Given the description of an element on the screen output the (x, y) to click on. 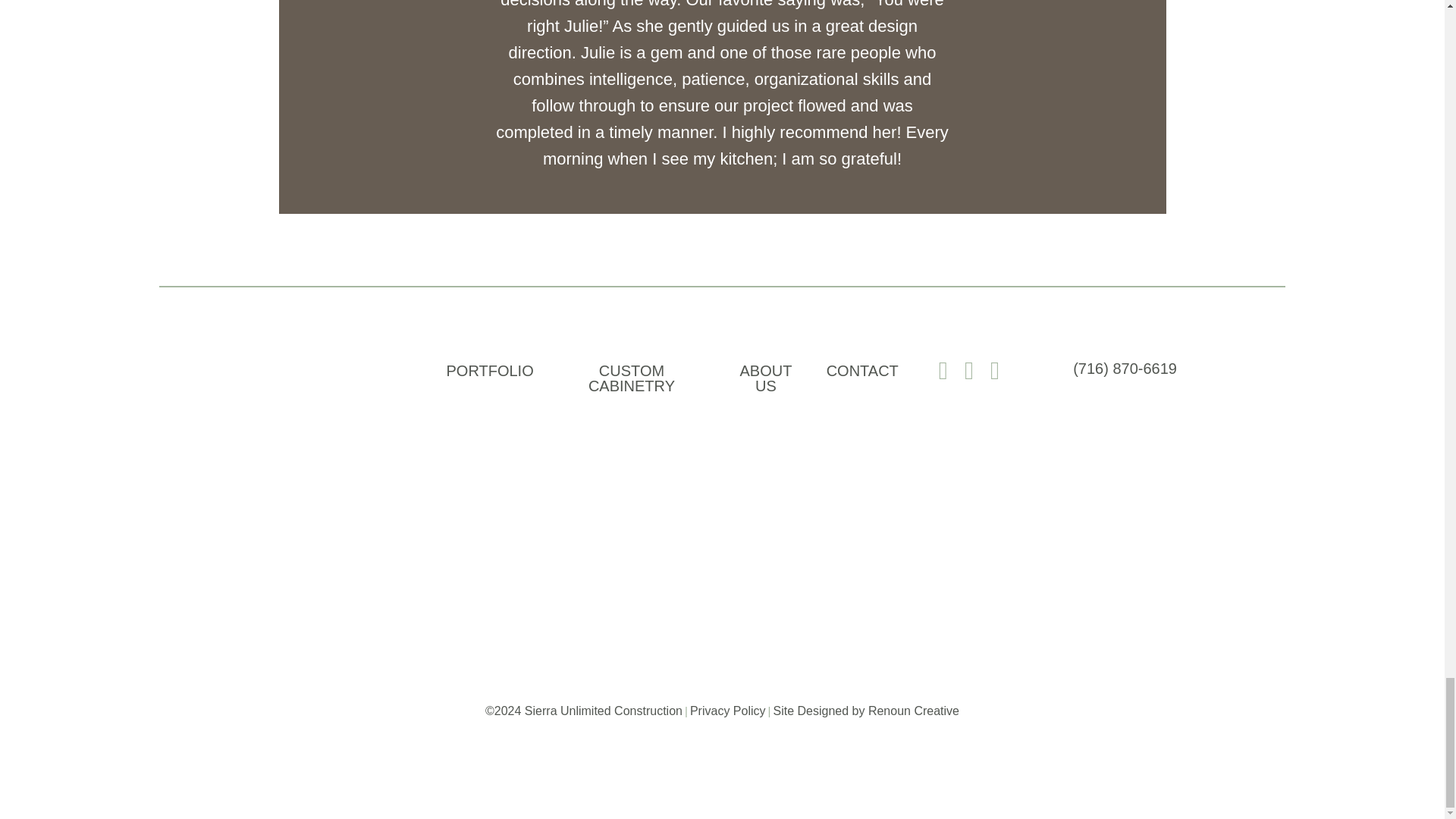
ABOUT US (765, 377)
Privacy Policy (727, 710)
CONTACT (862, 369)
Sierra Unlimited Construction (272, 481)
Renoun Creative (913, 710)
PORTFOLIO (488, 369)
CUSTOM CABINETRY (631, 377)
